Given the description of an element on the screen output the (x, y) to click on. 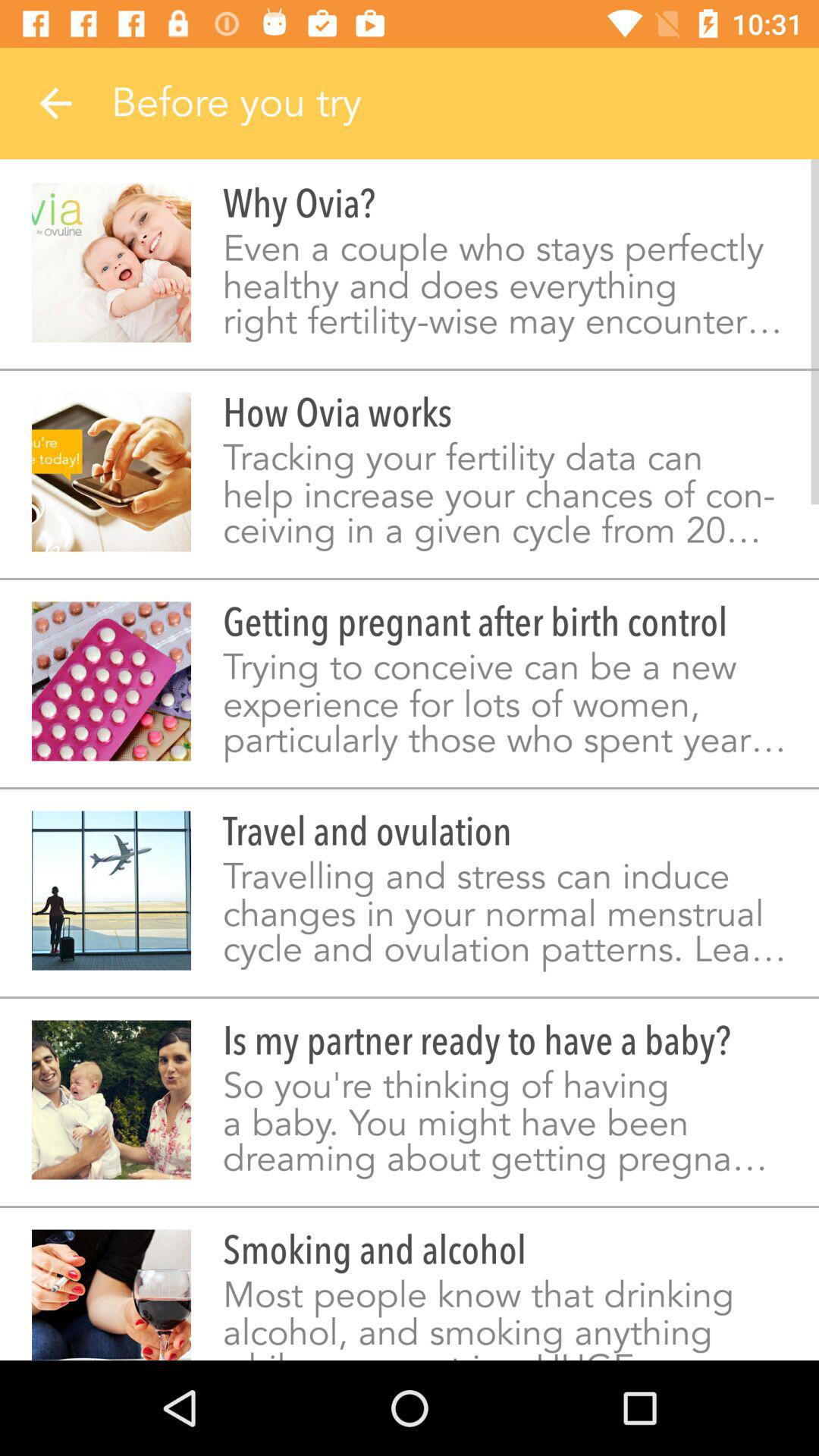
flip to before you try icon (465, 103)
